Given the description of an element on the screen output the (x, y) to click on. 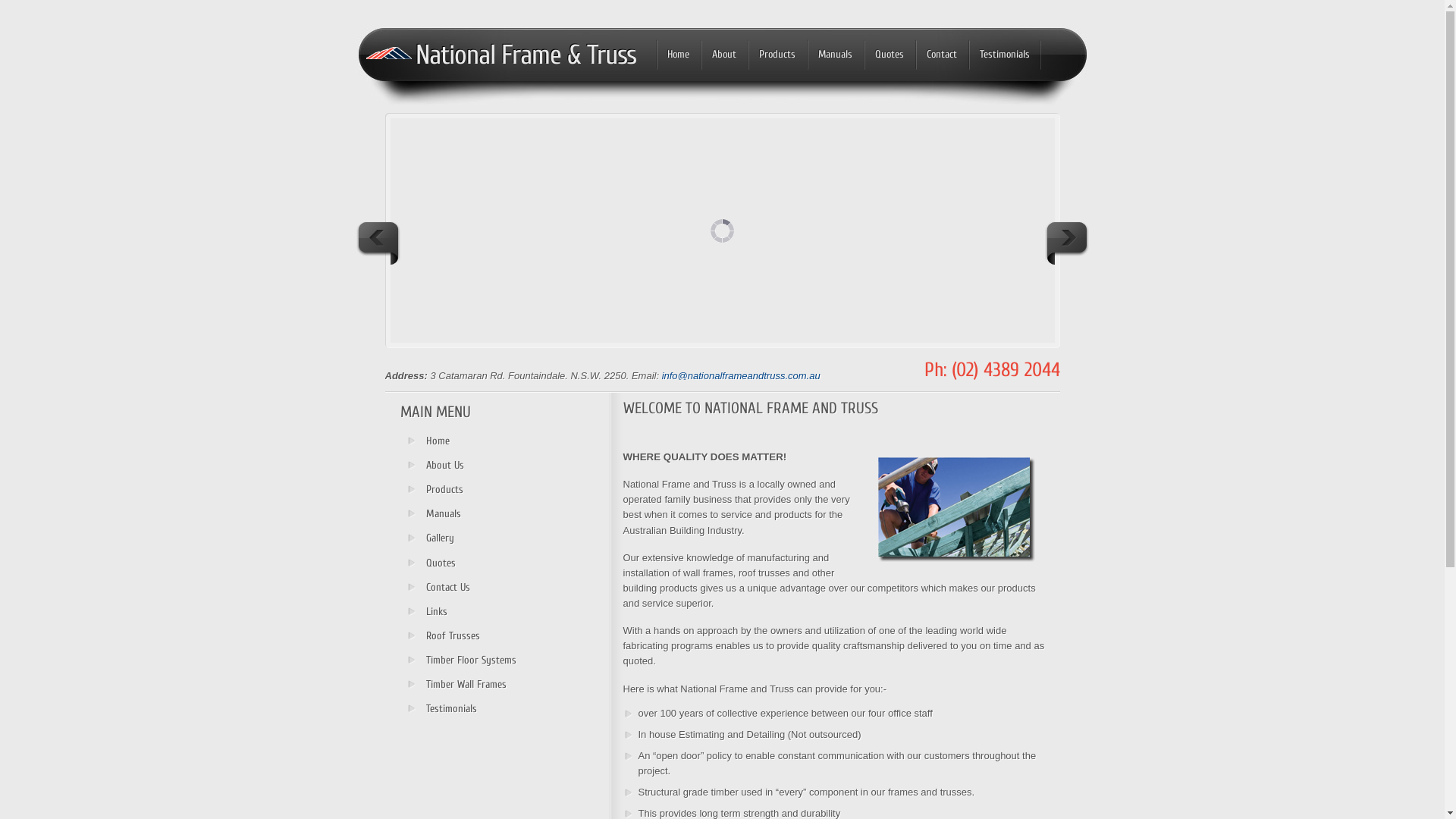
Manuals Element type: text (468, 513)
Links Element type: text (468, 611)
Quotes Element type: text (468, 562)
Products Element type: text (468, 489)
info@nationalframeandtruss.com.au Element type: text (741, 375)
National Frame & Truss Element type: text (525, 55)
Testimonials Element type: text (1004, 55)
Roof Trusses Element type: text (468, 635)
Timber Wall Frames Element type: text (468, 684)
About Element type: text (723, 55)
Contact Us Element type: text (468, 587)
Manuals Element type: text (834, 55)
Home Element type: text (468, 440)
Home Element type: text (678, 55)
Quotes Element type: text (889, 55)
Testimonials Element type: text (468, 708)
Gallery Element type: text (468, 538)
Timber Floor Systems Element type: text (468, 660)
About Us Element type: text (468, 465)
Products Element type: text (776, 55)
Contact Element type: text (941, 55)
